Given the description of an element on the screen output the (x, y) to click on. 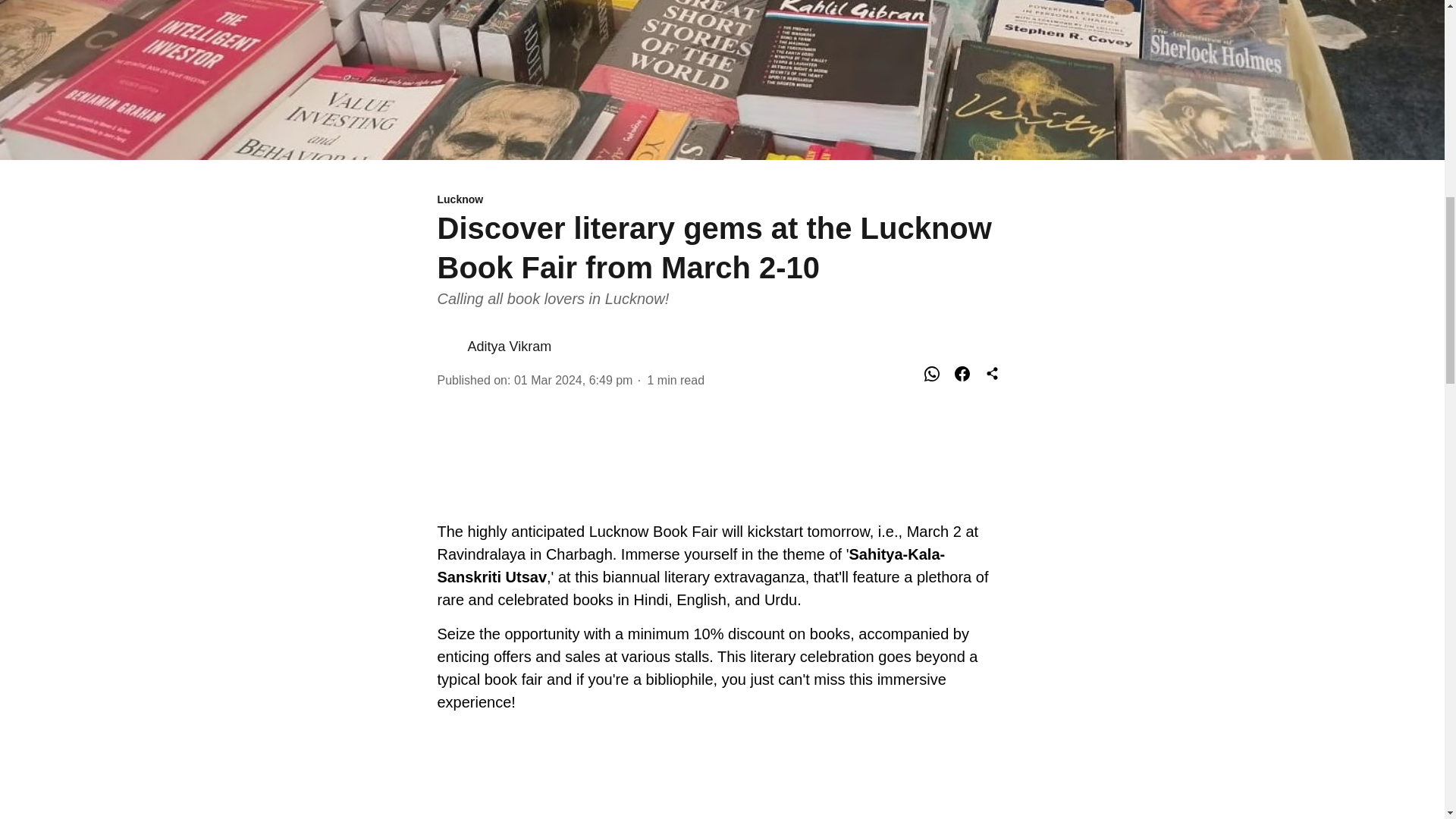
Aditya Vikram (509, 346)
Lucknow (721, 200)
